Given the description of an element on the screen output the (x, y) to click on. 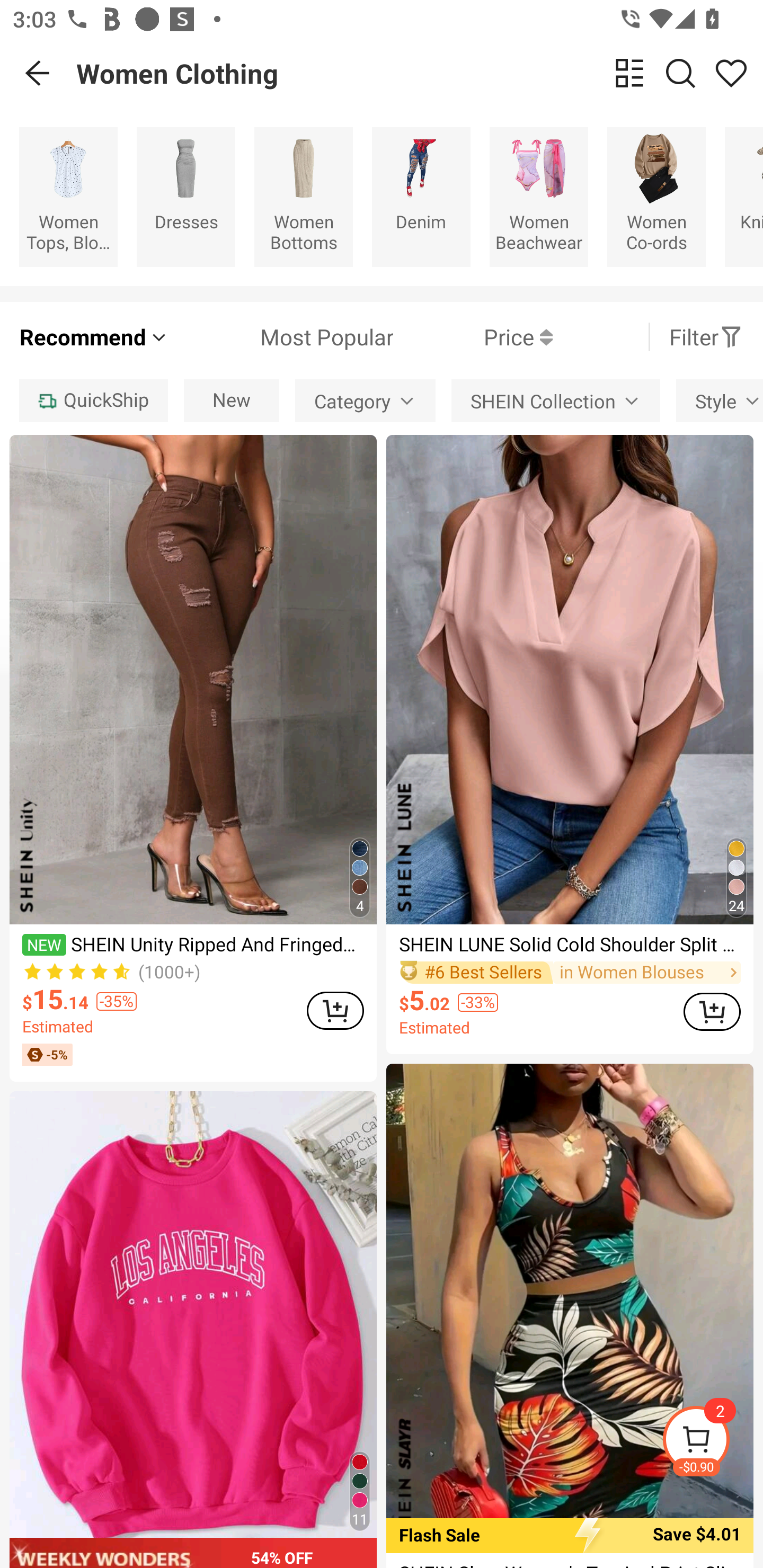
Women Clothing change view Search Share (419, 72)
change view (629, 72)
Search (679, 72)
Share (730, 72)
Women Tops, Blouses & Tee (68, 196)
Dresses (185, 196)
Women Bottoms (303, 196)
Denim (421, 196)
Women Beachwear (538, 196)
Women Co-ords (656, 196)
Recommend (94, 336)
Most Popular (280, 336)
Price (472, 336)
Filter (705, 336)
QuickShip (93, 400)
New (231, 400)
Category (365, 400)
SHEIN Collection (555, 400)
Style (719, 400)
#6 Best Sellers in Women Blouses (569, 971)
ADD TO CART (334, 1010)
ADD TO CART (711, 1011)
Letter Graphic Thermal Lined Sweatshirt 11 54% OFF (192, 1329)
-$0.90 (712, 1441)
